Given the description of an element on the screen output the (x, y) to click on. 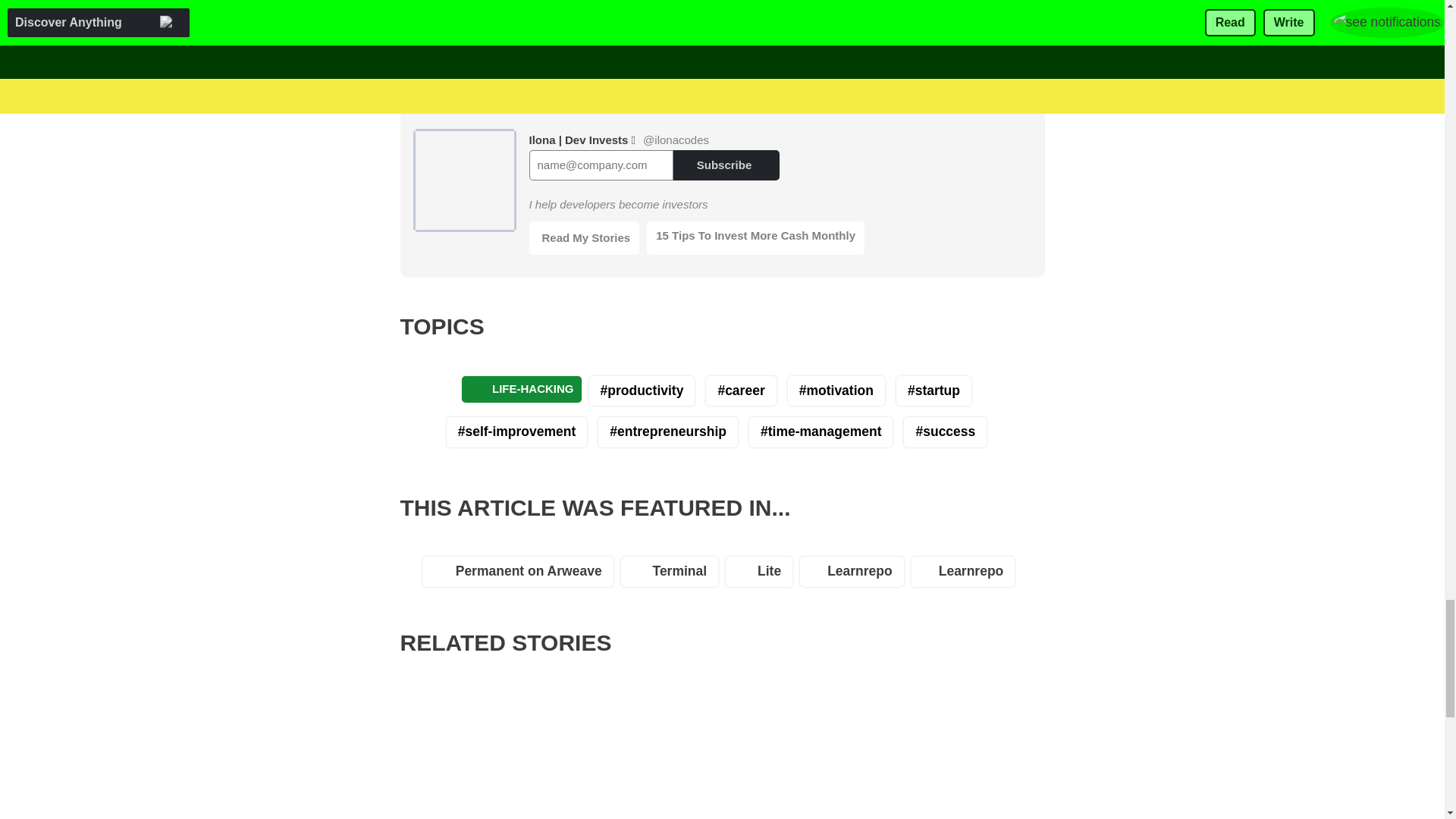
Learnrepo (855, 574)
Permanent on Arweave (521, 574)
LIFE-HACKING (520, 388)
Learnrepo (967, 574)
 Terminal (673, 574)
Subscribe (725, 164)
Read My Stories (584, 237)
15 Tips To Invest More Cash Monthly (755, 237)
 Lite (762, 574)
